Given the description of an element on the screen output the (x, y) to click on. 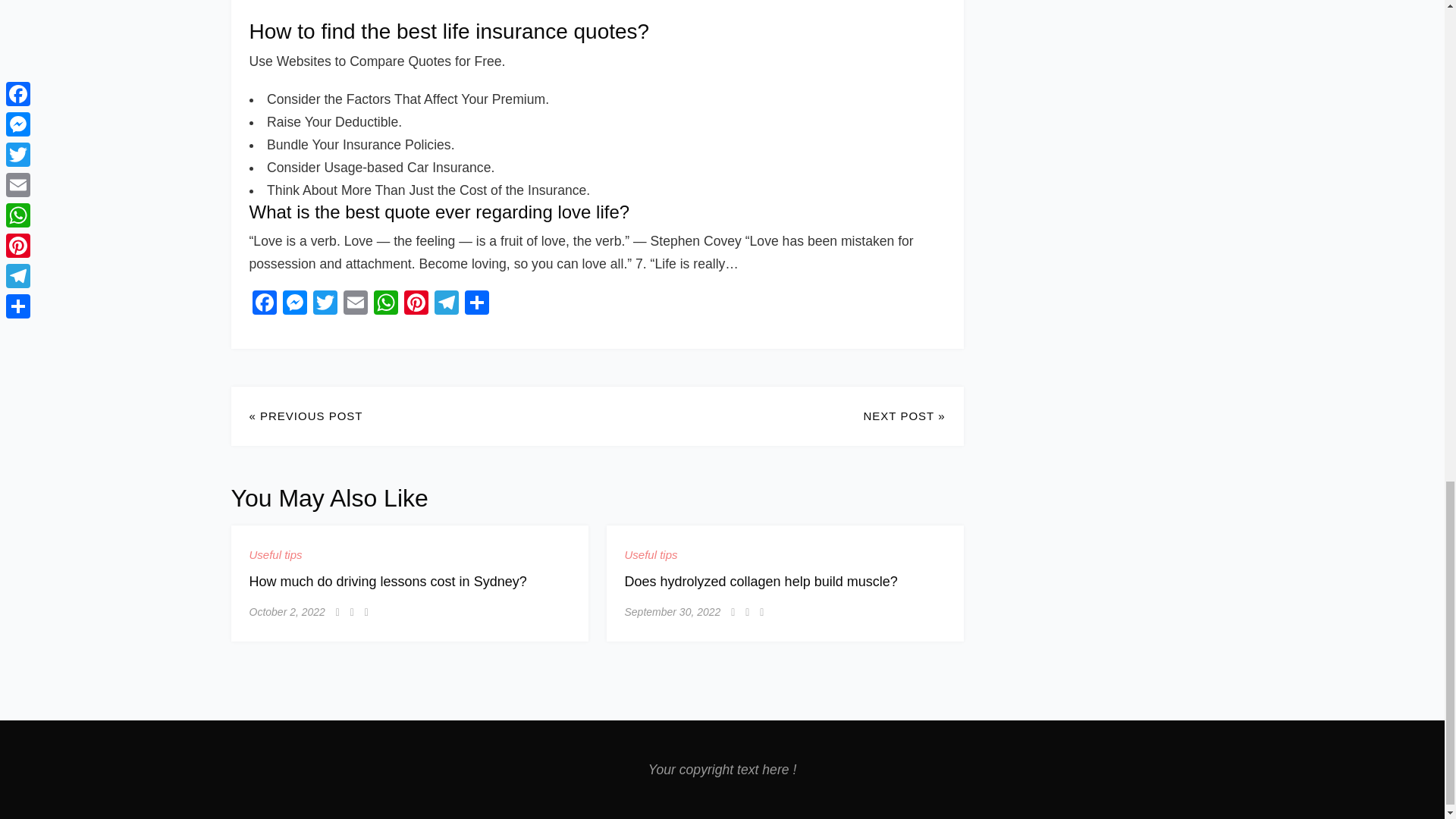
Useful tips (274, 554)
Messenger (293, 304)
Twitter (323, 304)
October 2, 2022 (286, 611)
Facebook (263, 304)
Telegram (445, 304)
Email (354, 304)
Messenger (293, 304)
Telegram (445, 304)
Email (354, 304)
